Given the description of an element on the screen output the (x, y) to click on. 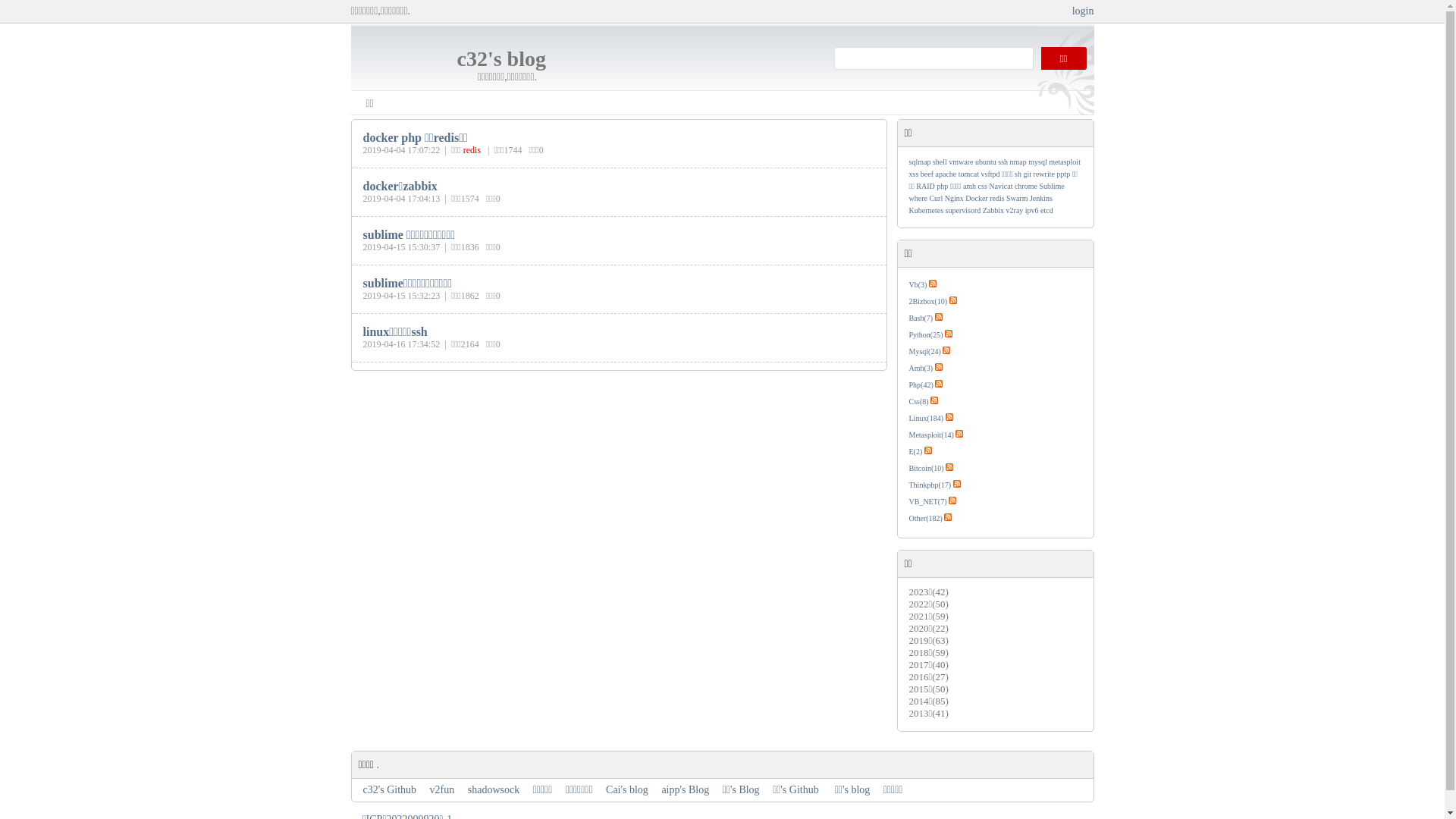
Metasploit(14) Element type: text (930, 434)
Mysql(24) Element type: text (924, 351)
ubuntu Element type: text (985, 161)
Vb(3) Element type: text (917, 284)
php Element type: text (941, 186)
ipv6 Element type: text (1031, 210)
Cai's blog Element type: text (626, 789)
RAID Element type: text (925, 186)
sh Element type: text (1017, 173)
Kubernetes Element type: text (925, 210)
Jenkins Element type: text (1040, 198)
chrome Element type: text (1025, 186)
beef Element type: text (926, 173)
git Element type: text (1027, 173)
c32's Github Element type: text (389, 789)
login Element type: text (1083, 10)
shadowsock Element type: text (493, 789)
metasploit Element type: text (1064, 161)
Css(8) Element type: text (918, 401)
VB_NET(7) Element type: text (927, 501)
ssh Element type: text (1002, 161)
amh Element type: text (969, 186)
mysql Element type: text (1037, 161)
v2fun Element type: text (442, 789)
Amh(3) Element type: text (920, 368)
etcd Element type: text (1046, 210)
css Element type: text (982, 186)
2Bizbox(10) Element type: text (927, 301)
supervisord Element type: text (963, 210)
v2ray Element type: text (1014, 210)
Docker Element type: text (976, 198)
shell Element type: text (939, 161)
vmware Element type: text (960, 161)
Swarm Element type: text (1016, 198)
Bitcoin(10) Element type: text (925, 468)
Nginx Element type: text (953, 198)
sqlmap Element type: text (919, 161)
Navicat Element type: text (1000, 186)
E(2) Element type: text (915, 451)
Curl Element type: text (935, 198)
Zabbix Element type: text (993, 210)
Linux(184) Element type: text (925, 418)
aipp's Blog Element type: text (685, 789)
Bash(7) Element type: text (920, 317)
apache Element type: text (946, 173)
Other(182) Element type: text (924, 518)
redis Element type: text (471, 149)
redis Element type: text (996, 198)
pptp Element type: text (1063, 173)
nmap Element type: text (1018, 161)
xss Element type: text (913, 173)
rewrite Element type: text (1043, 173)
. Element type: text (377, 764)
Thinkphp(17) Element type: text (929, 484)
tomcat Element type: text (968, 173)
where Element type: text (917, 198)
Python(25) Element type: text (925, 334)
vsftpd Element type: text (990, 173)
Php(42) Element type: text (920, 384)
Sublime Element type: text (1050, 186)
